Given the description of an element on the screen output the (x, y) to click on. 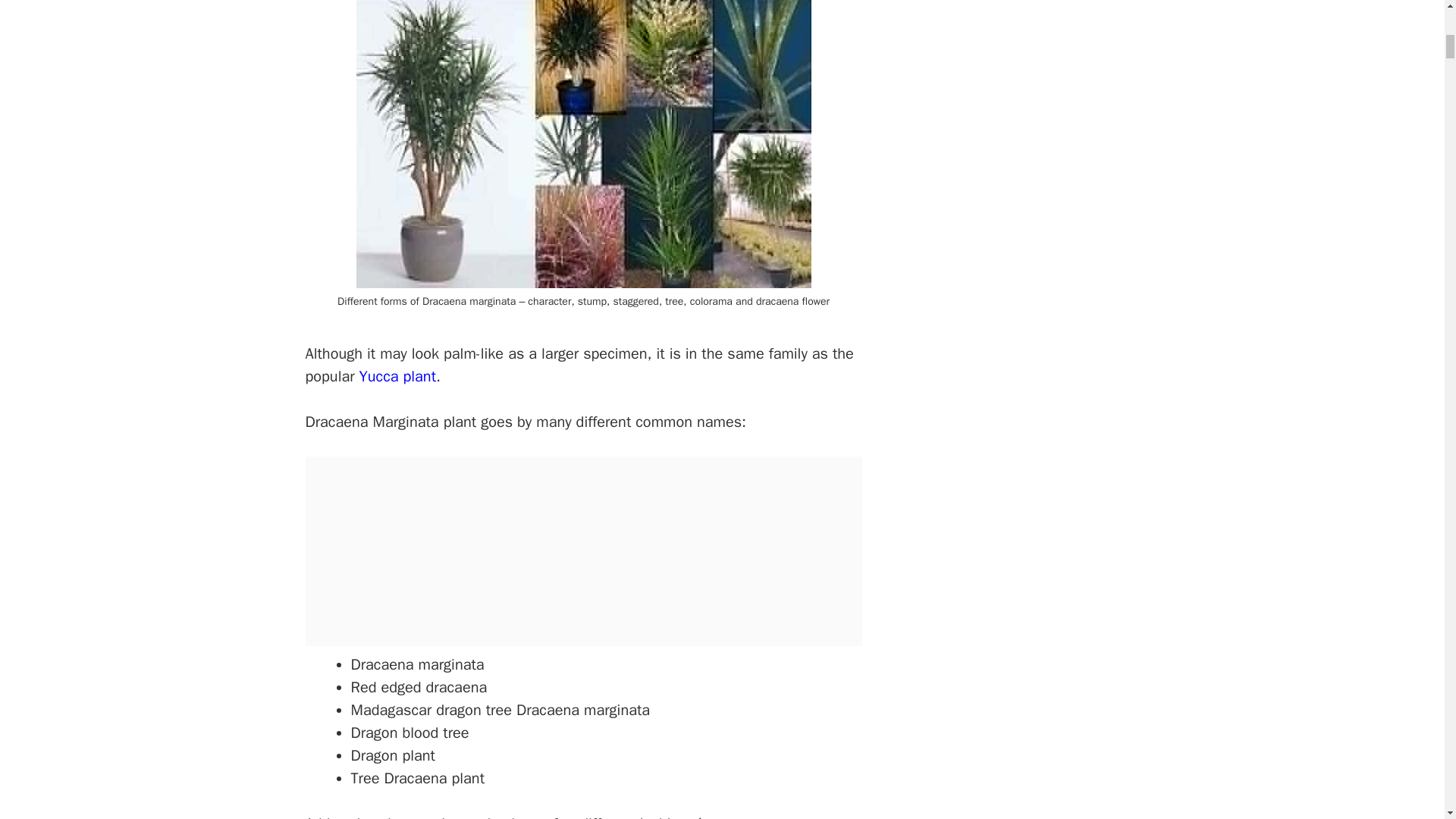
Yucca plant (397, 375)
